Given the description of an element on the screen output the (x, y) to click on. 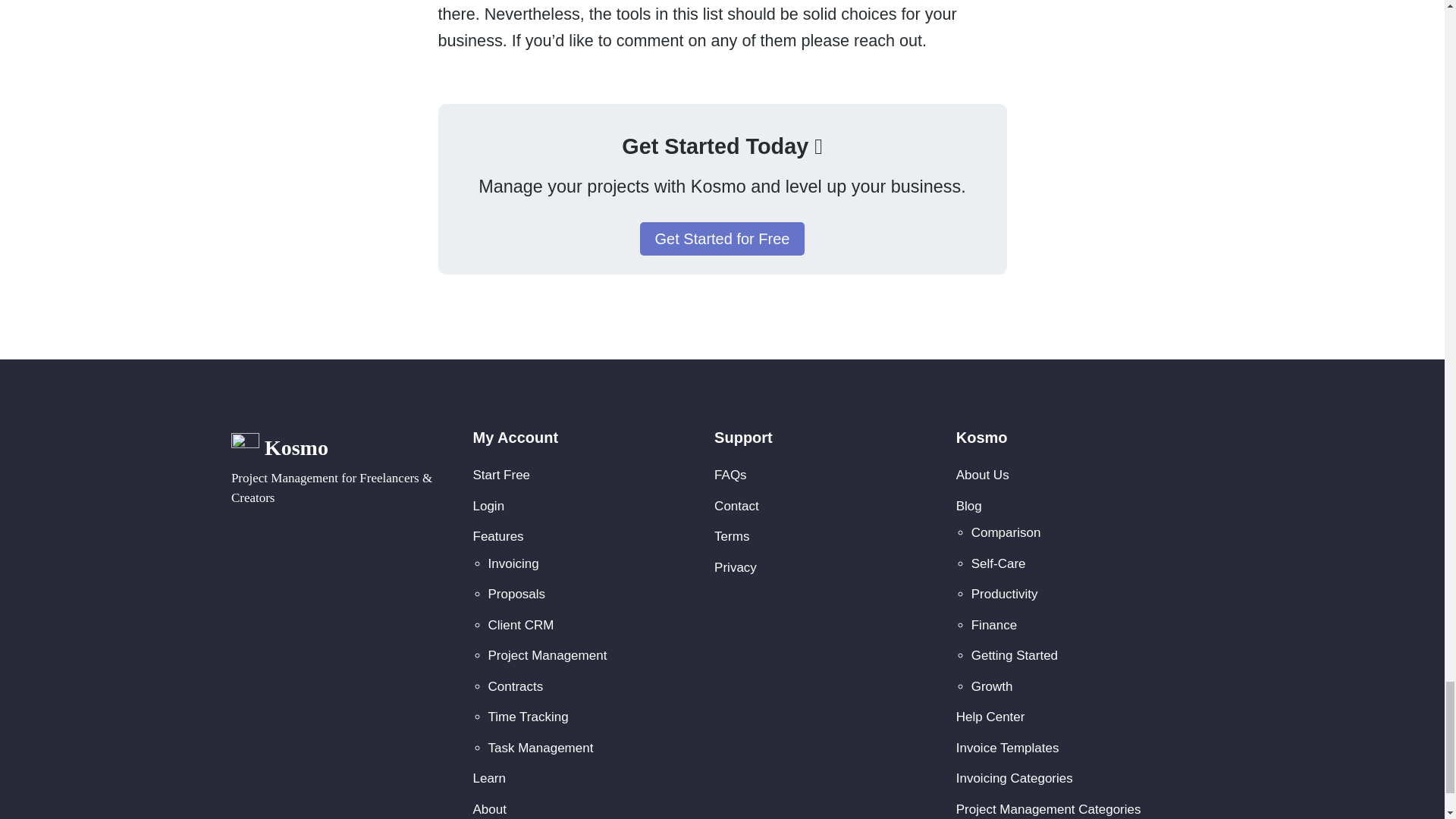
Get Started for Free (722, 238)
Features (498, 536)
Login (489, 505)
Start Free (502, 474)
